Given the description of an element on the screen output the (x, y) to click on. 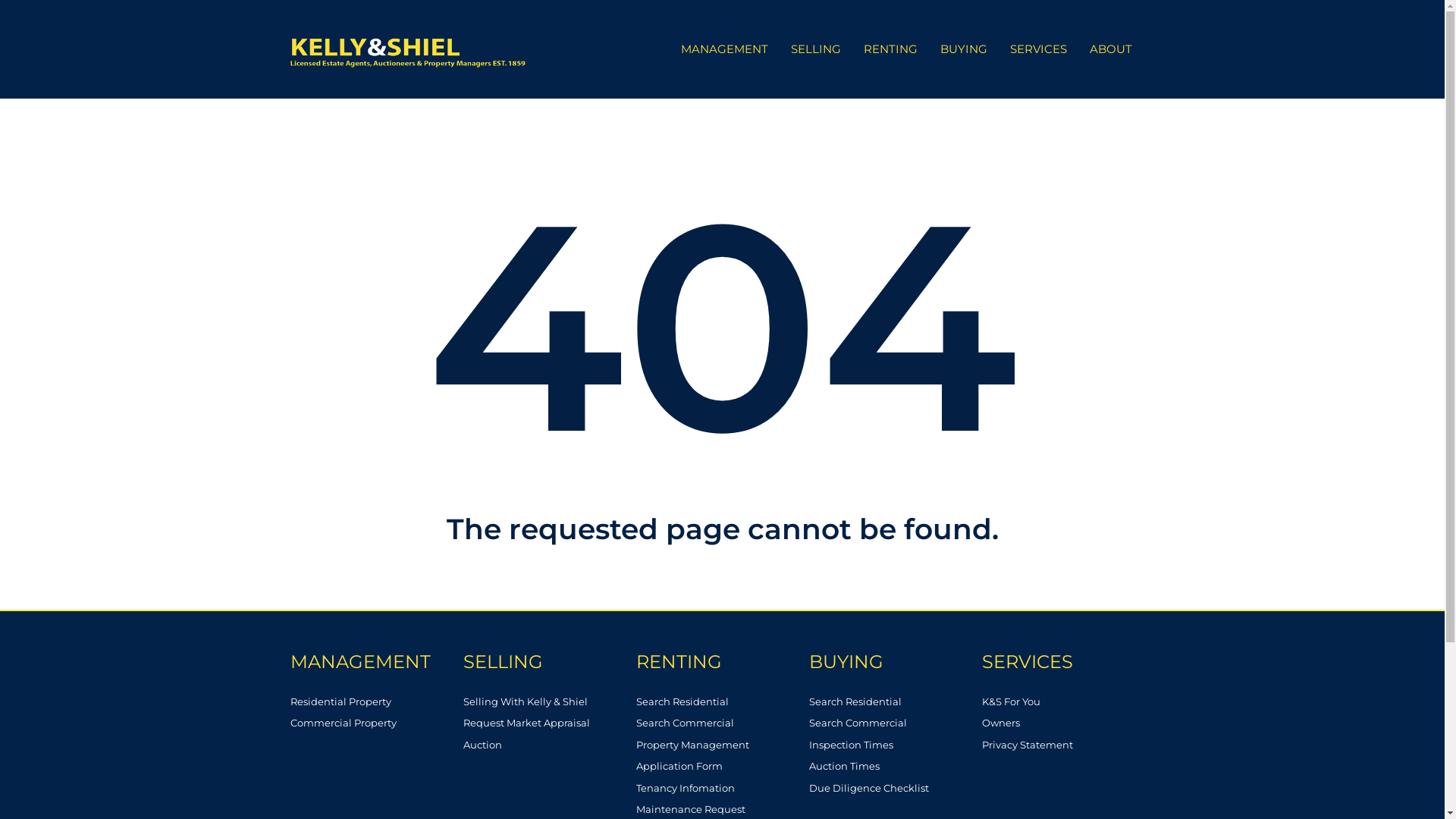
Selling With Kelly & Shiel Element type: text (548, 701)
Search Residential Element type: text (894, 701)
Maintenance Request Element type: text (721, 809)
Search Commercial Element type: text (894, 722)
BUYING Element type: text (962, 48)
Privacy Statement Element type: text (1067, 744)
Auction Element type: text (548, 744)
MANAGEMENT Element type: text (375, 661)
Owners Element type: text (1067, 722)
RENTING Element type: text (890, 48)
Application Form Element type: text (721, 766)
SELLING Element type: text (815, 48)
Auction Times Element type: text (894, 766)
BUYING Element type: text (894, 661)
Request Market Appraisal Element type: text (548, 722)
Residential Property Element type: text (375, 701)
SERVICES Element type: text (1037, 48)
Commercial Property Element type: text (375, 722)
Due Diligence Checklist Element type: text (894, 788)
K&S For You Element type: text (1067, 701)
ABOUT Element type: text (1110, 48)
Tenancy Infomation Element type: text (721, 788)
Inspection Times Element type: text (894, 744)
SERVICES Element type: text (1067, 661)
SELLING Element type: text (548, 661)
Search Residential Element type: text (721, 701)
RENTING Element type: text (721, 661)
Property Management Element type: text (721, 744)
MANAGEMENT Element type: text (723, 48)
Search Commercial Element type: text (721, 722)
